Given the description of an element on the screen output the (x, y) to click on. 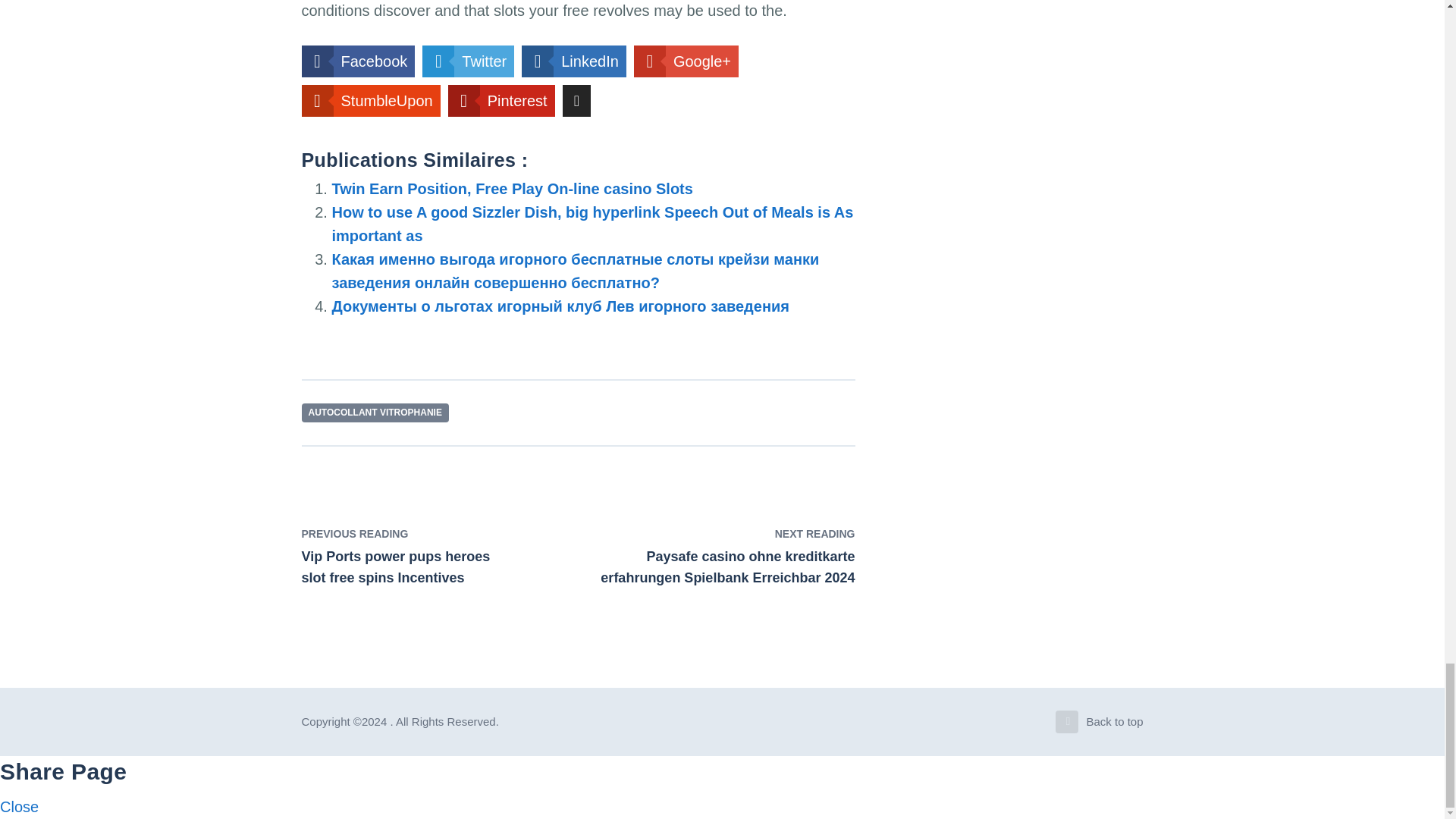
Back to top (1098, 721)
Twin Earn Position, Free Play On-line casino Slots (512, 188)
Pinterest (501, 101)
Twitter (467, 60)
AUTOCOLLANT VITROPHANIE (374, 412)
LinkedIn (573, 60)
Facebook (357, 60)
StumbleUpon (371, 101)
